Given the description of an element on the screen output the (x, y) to click on. 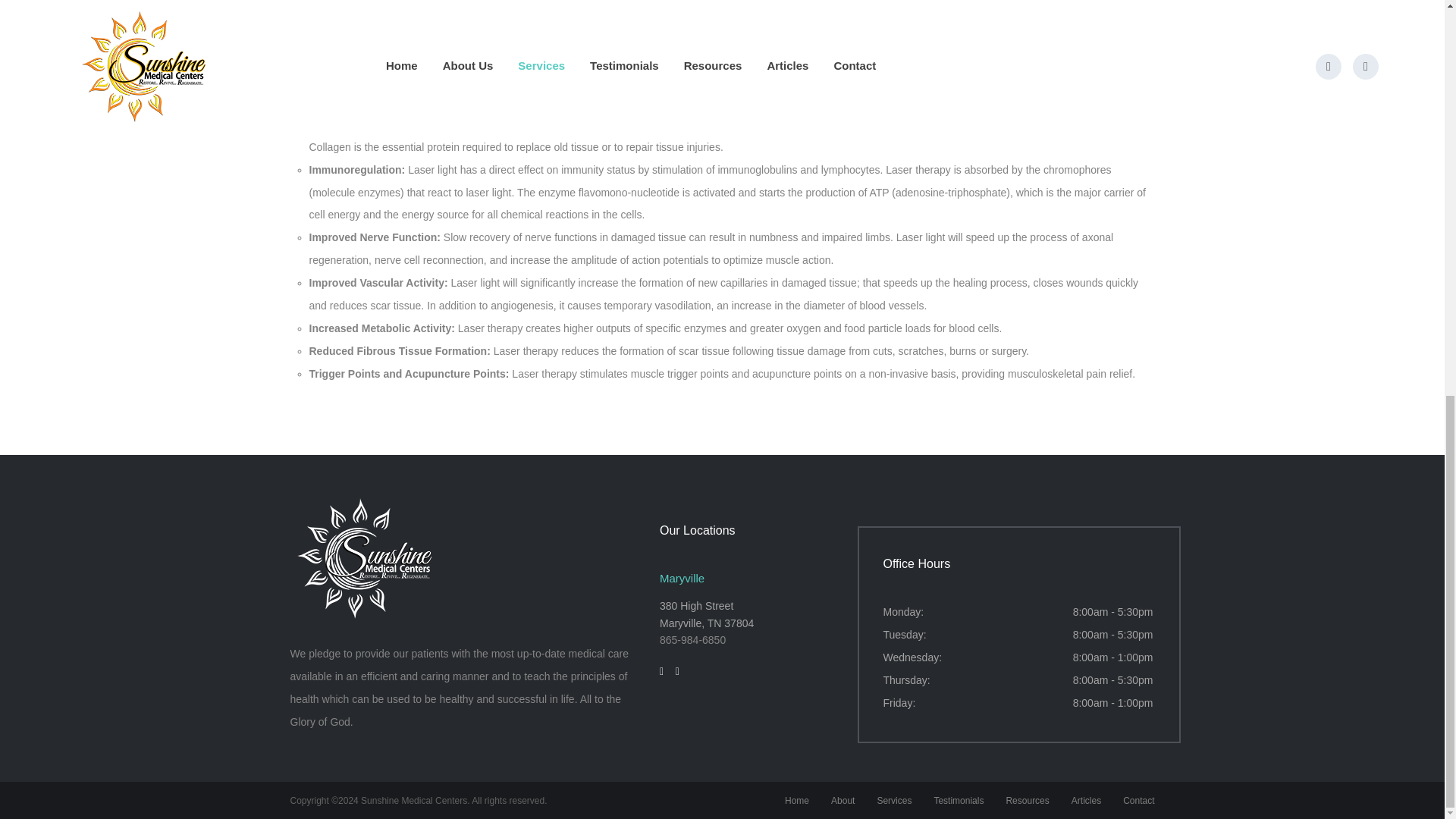
Home (796, 800)
Resources (1027, 800)
Services (893, 800)
865-984-6850 (692, 639)
Testimonials (958, 800)
Articles (1085, 800)
Contact (1138, 800)
About (842, 800)
